Given the description of an element on the screen output the (x, y) to click on. 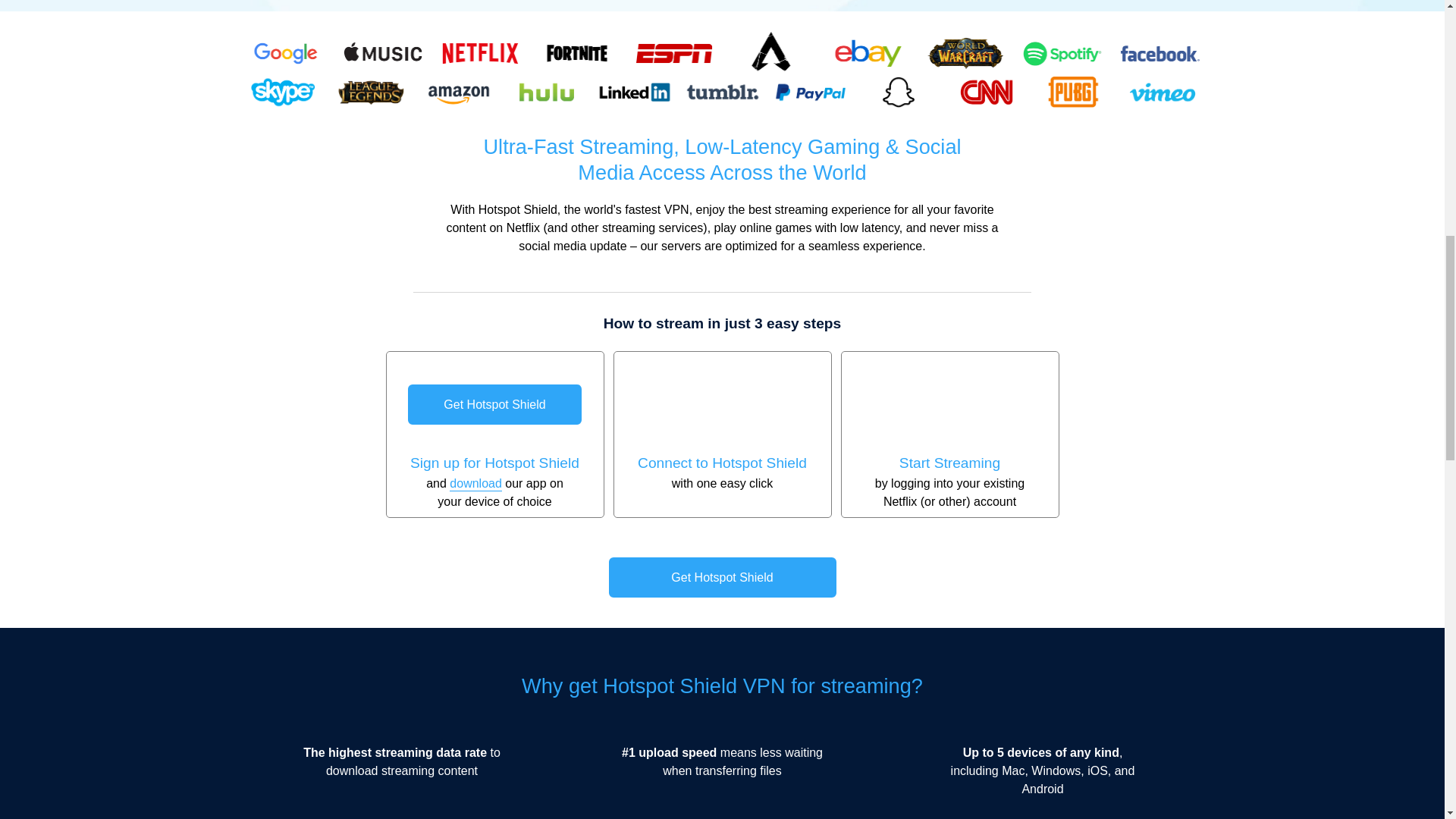
Paypal (809, 91)
Snapchat (898, 91)
Tumblr (722, 91)
Hulu (545, 91)
ESPN (673, 53)
Skype (282, 91)
Spotify (1061, 53)
Apex Legends (770, 53)
Amazon (458, 91)
CNN (985, 91)
Get Hotspot Shield (493, 404)
Google (285, 53)
Facebook (1158, 53)
PubG (1073, 91)
Netflix (478, 53)
